Given the description of an element on the screen output the (x, y) to click on. 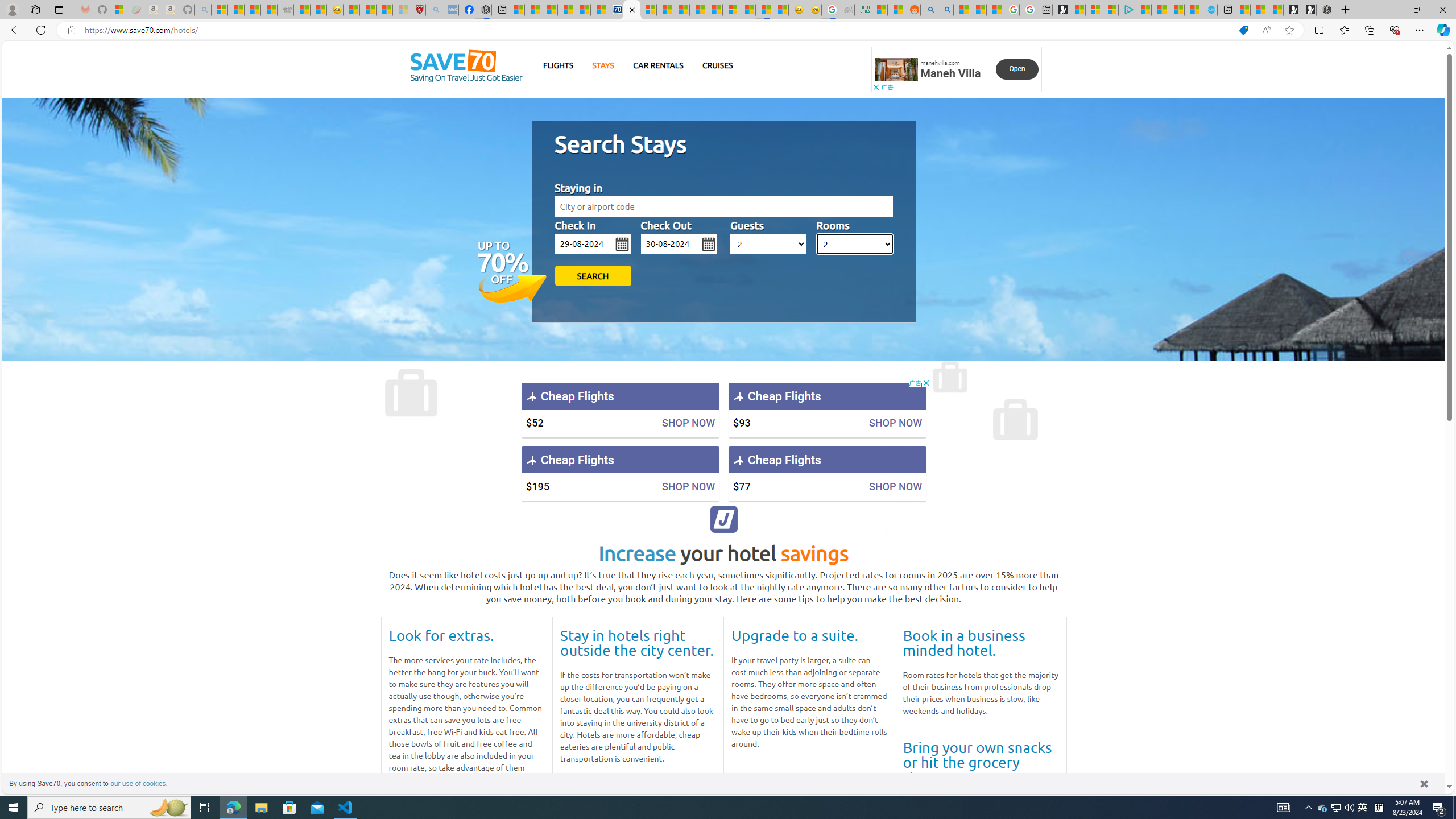
Robert H. Shmerling, MD - Harvard Health (417, 9)
